Given the description of an element on the screen output the (x, y) to click on. 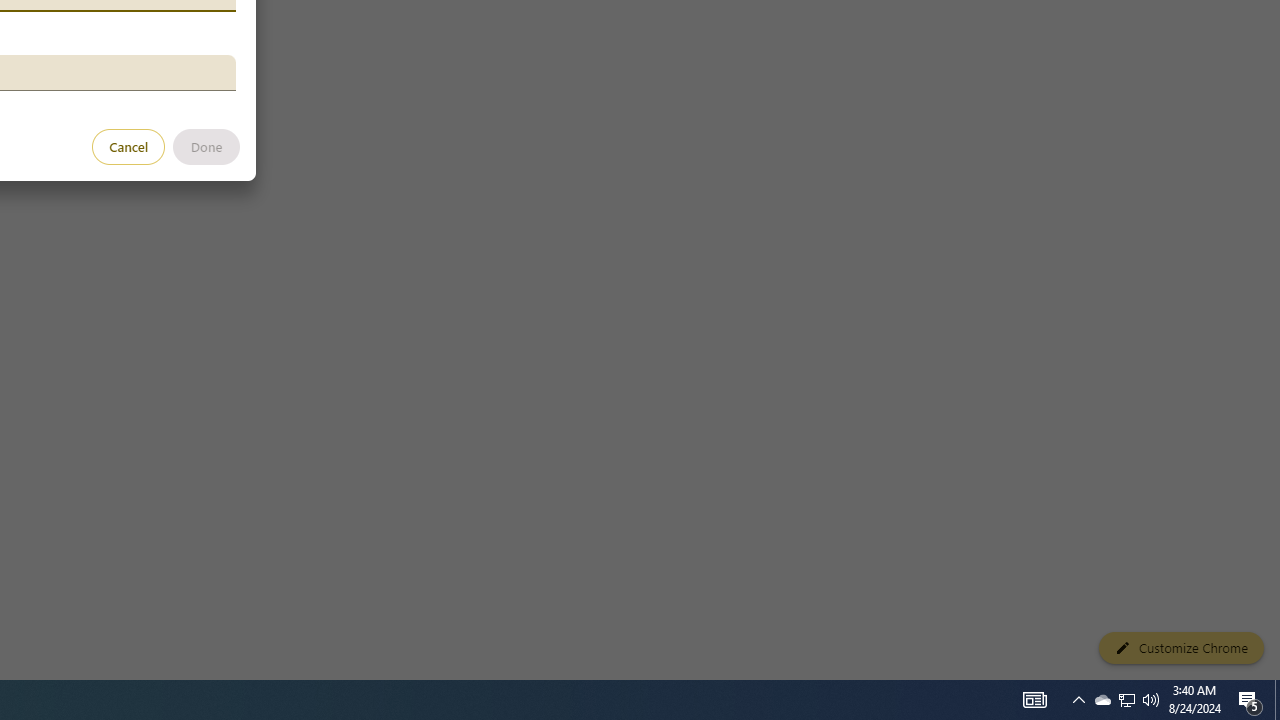
Done (206, 146)
Cancel (129, 146)
